Given the description of an element on the screen output the (x, y) to click on. 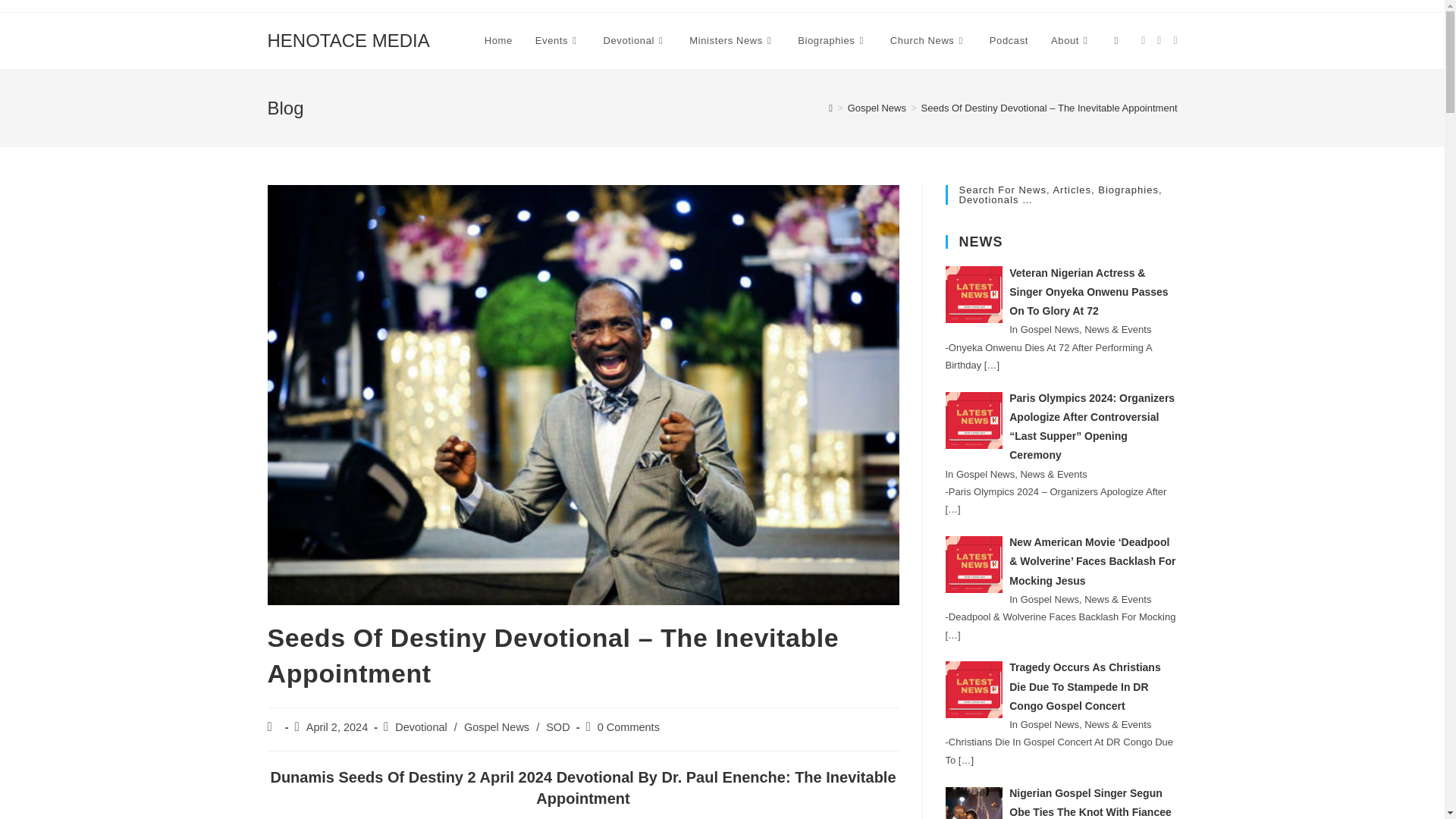
Biographies (832, 40)
HENOTACE MEDIA (347, 40)
Events (558, 40)
Devotional (635, 40)
Ministers News (732, 40)
Home (498, 40)
